Given the description of an element on the screen output the (x, y) to click on. 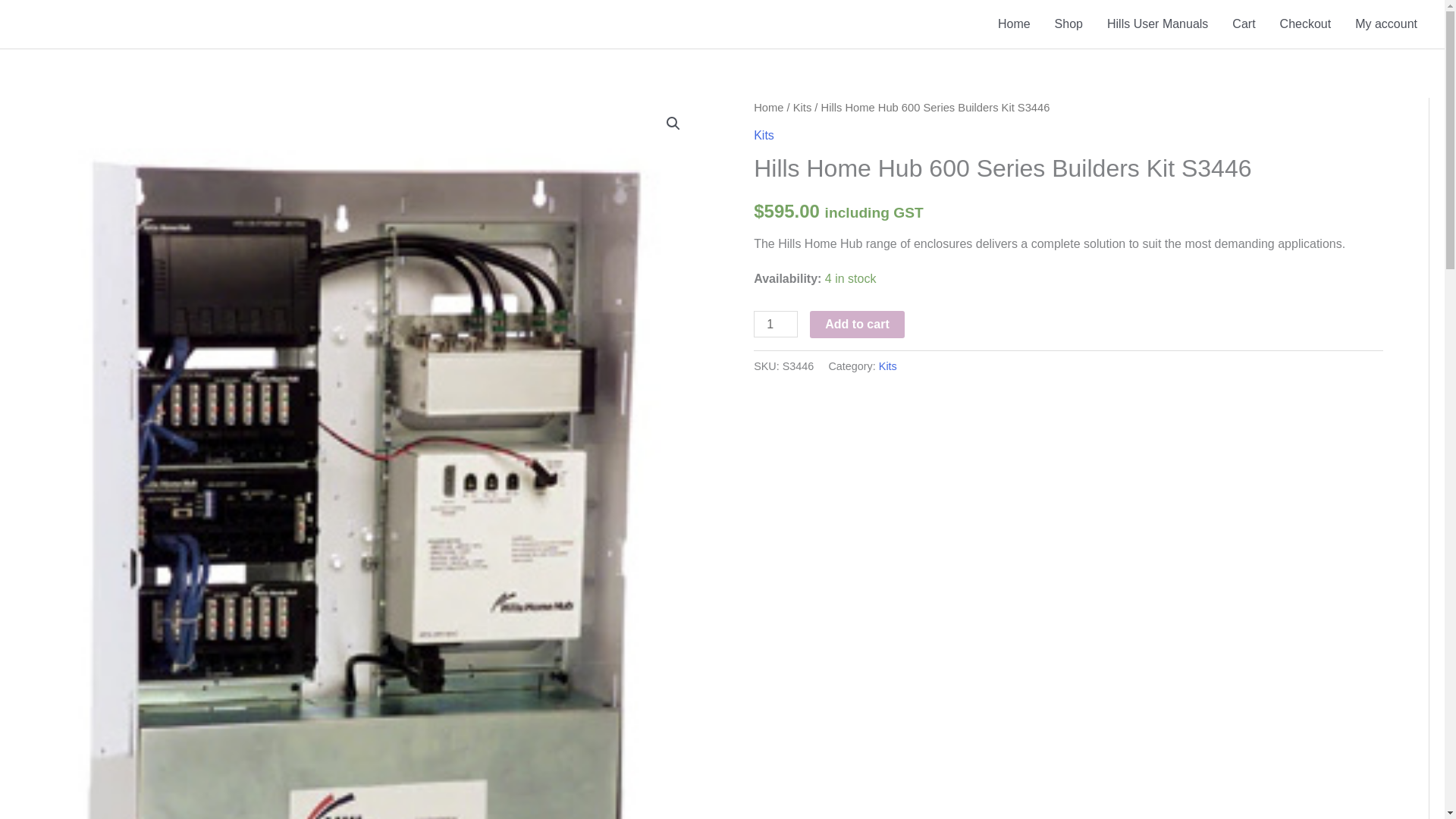
1 (775, 324)
Hills User Manuals (1157, 24)
Shop (1068, 24)
Add to cart (856, 324)
Kits (764, 134)
Home (1013, 24)
Kits (887, 366)
Kits (802, 107)
My account (1385, 24)
Checkout (1305, 24)
Home (768, 107)
Cart (1243, 24)
